Given the description of an element on the screen output the (x, y) to click on. 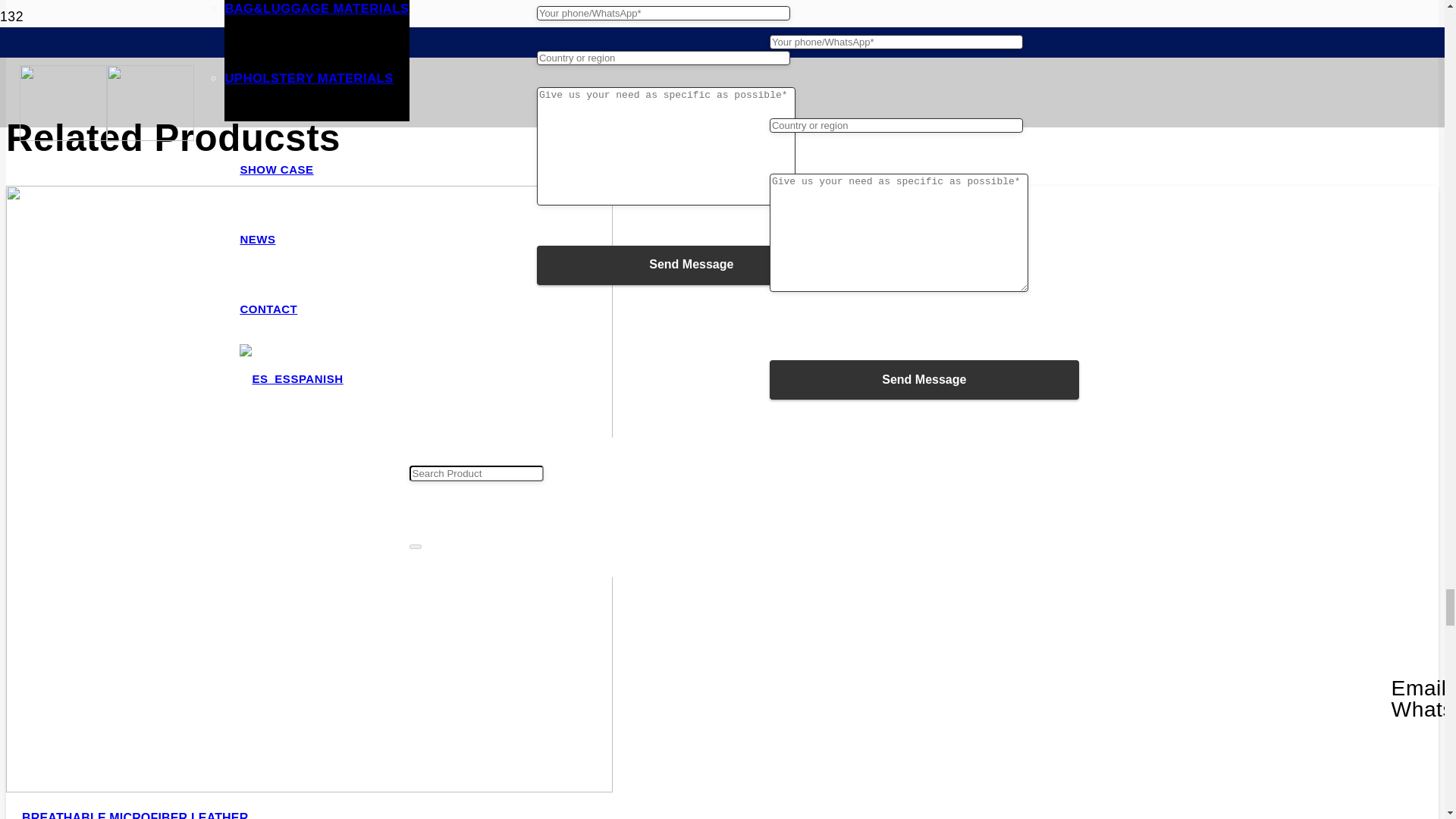
BREATHABLE MICROFIBER LEATHER (134, 815)
